Given the description of an element on the screen output the (x, y) to click on. 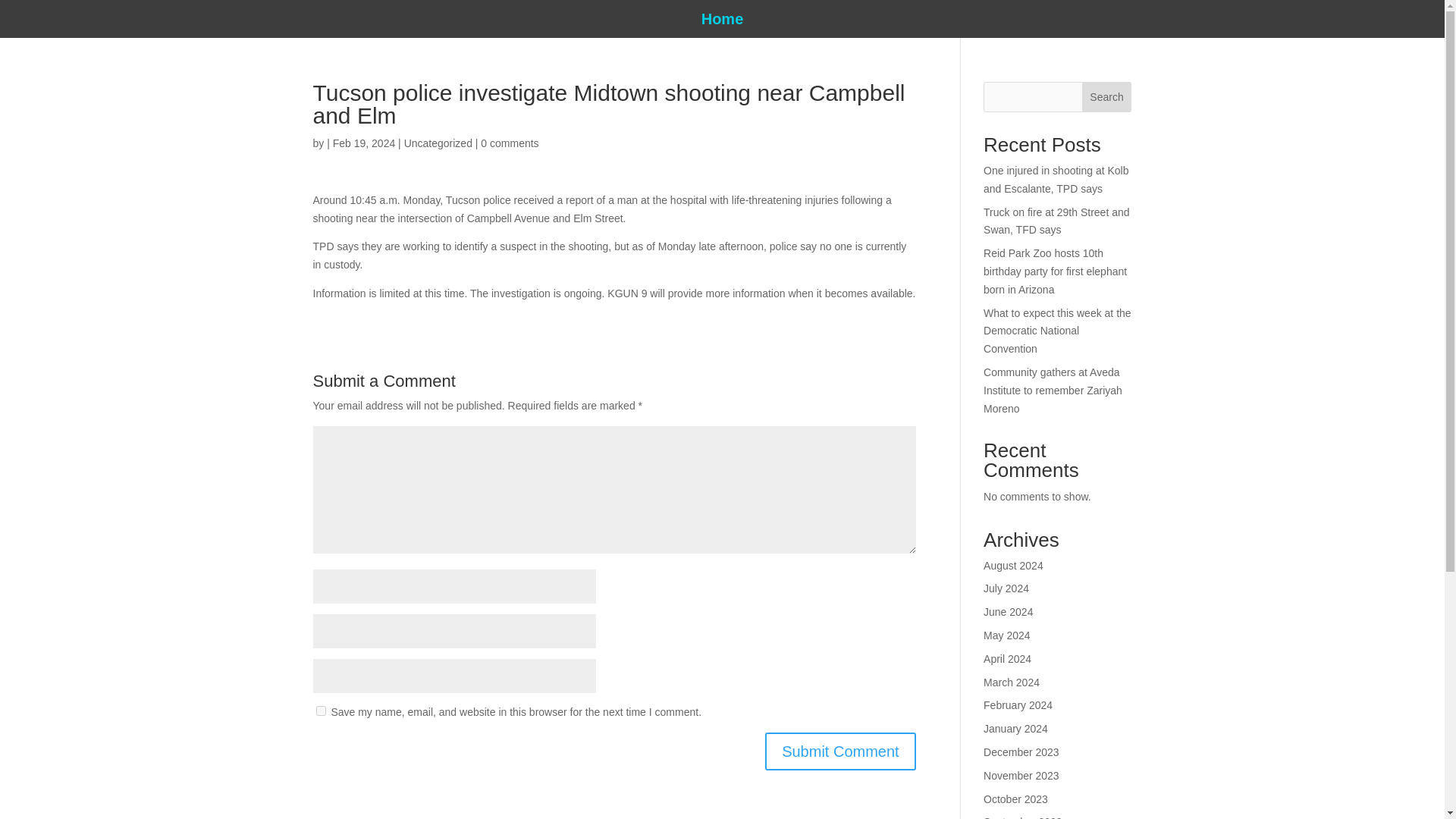
July 2024 (1006, 588)
January 2024 (1016, 728)
Submit Comment (840, 751)
Uncategorized (437, 143)
December 2023 (1021, 752)
0 comments (509, 143)
April 2024 (1007, 658)
Home (722, 21)
One injured in shooting at Kolb and Escalante, TPD says (1056, 179)
